Given the description of an element on the screen output the (x, y) to click on. 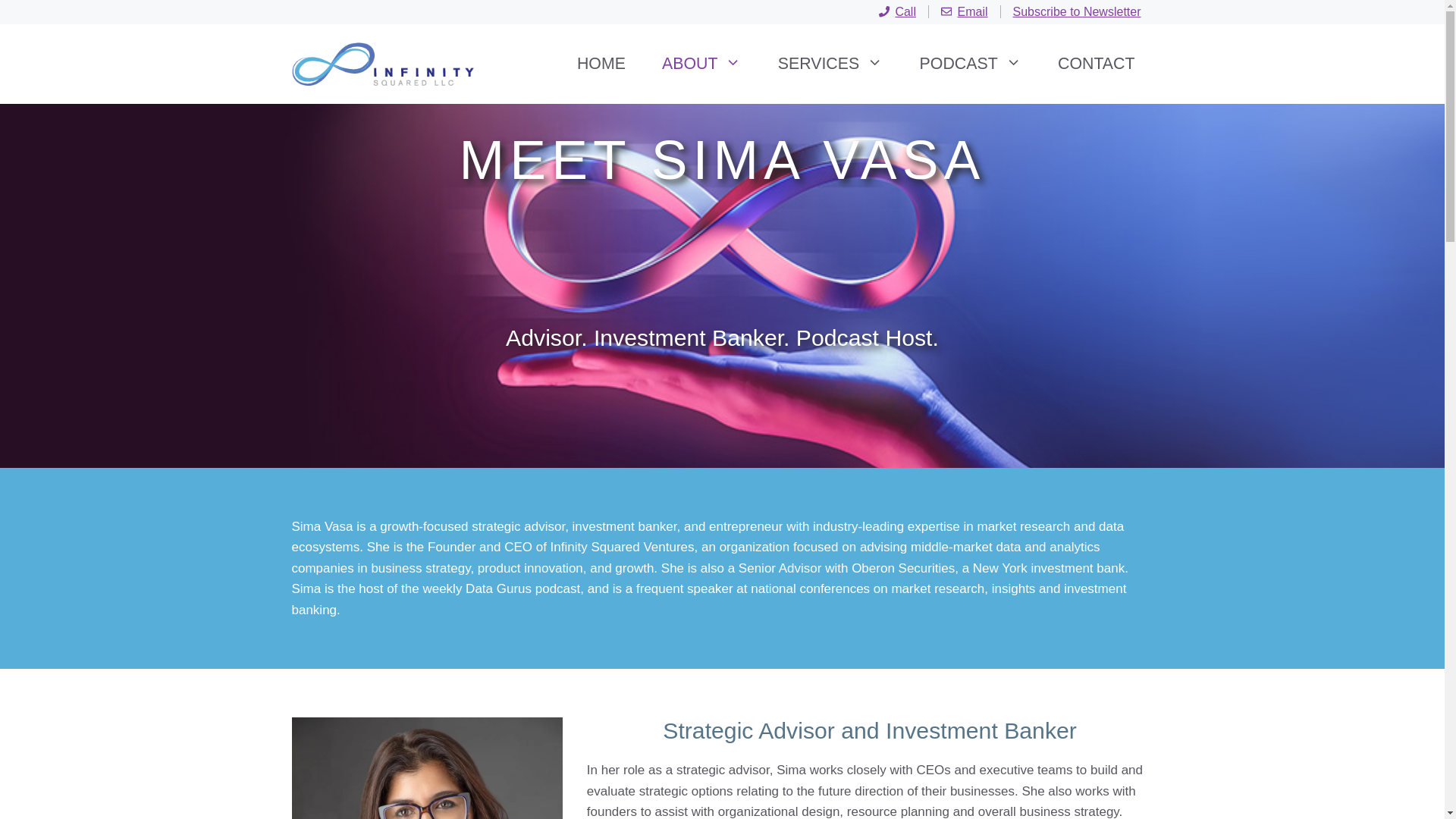
Call (897, 11)
Subscribe to Newsletter (1077, 11)
SERVICES (830, 63)
ABOUT (701, 63)
HOME (601, 63)
PODCAST (970, 63)
CONTACT (1096, 63)
Email (964, 11)
